Given the description of an element on the screen output the (x, y) to click on. 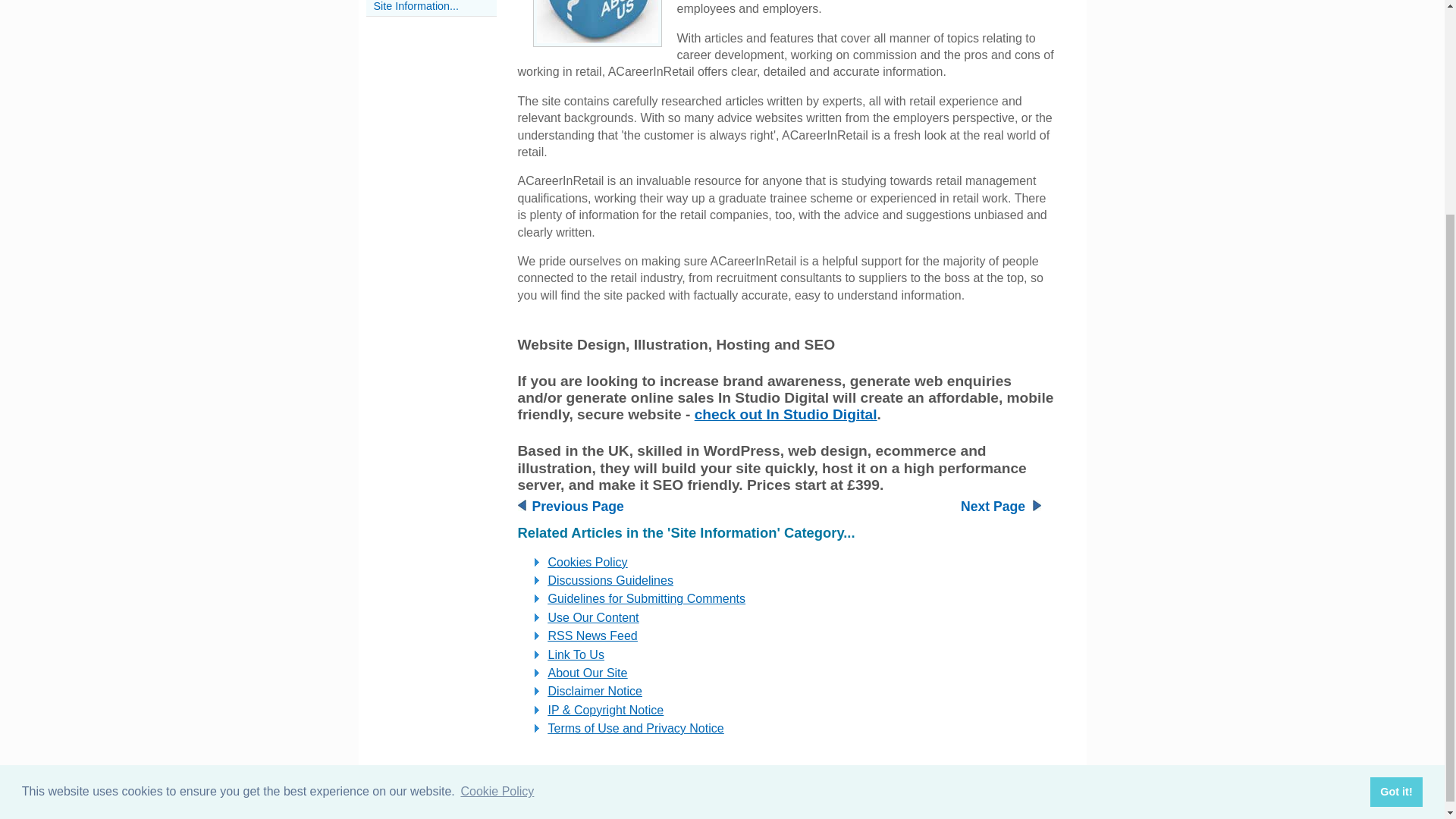
check out In Studio Digital (785, 414)
Previous Page (578, 506)
Cookie Policy (496, 507)
Terms of Use and Privacy Notice (635, 727)
Link To Us (575, 654)
Site Information... (415, 6)
Use Our Content (593, 617)
Cookies Policy (587, 562)
Discussions Guidelines (609, 580)
Disclaimer Notice (594, 690)
About Our Site (587, 672)
Got it! (1396, 507)
RSS News Feed (592, 635)
Next Page (992, 506)
Guidelines for Submitting Comments (646, 598)
